Given the description of an element on the screen output the (x, y) to click on. 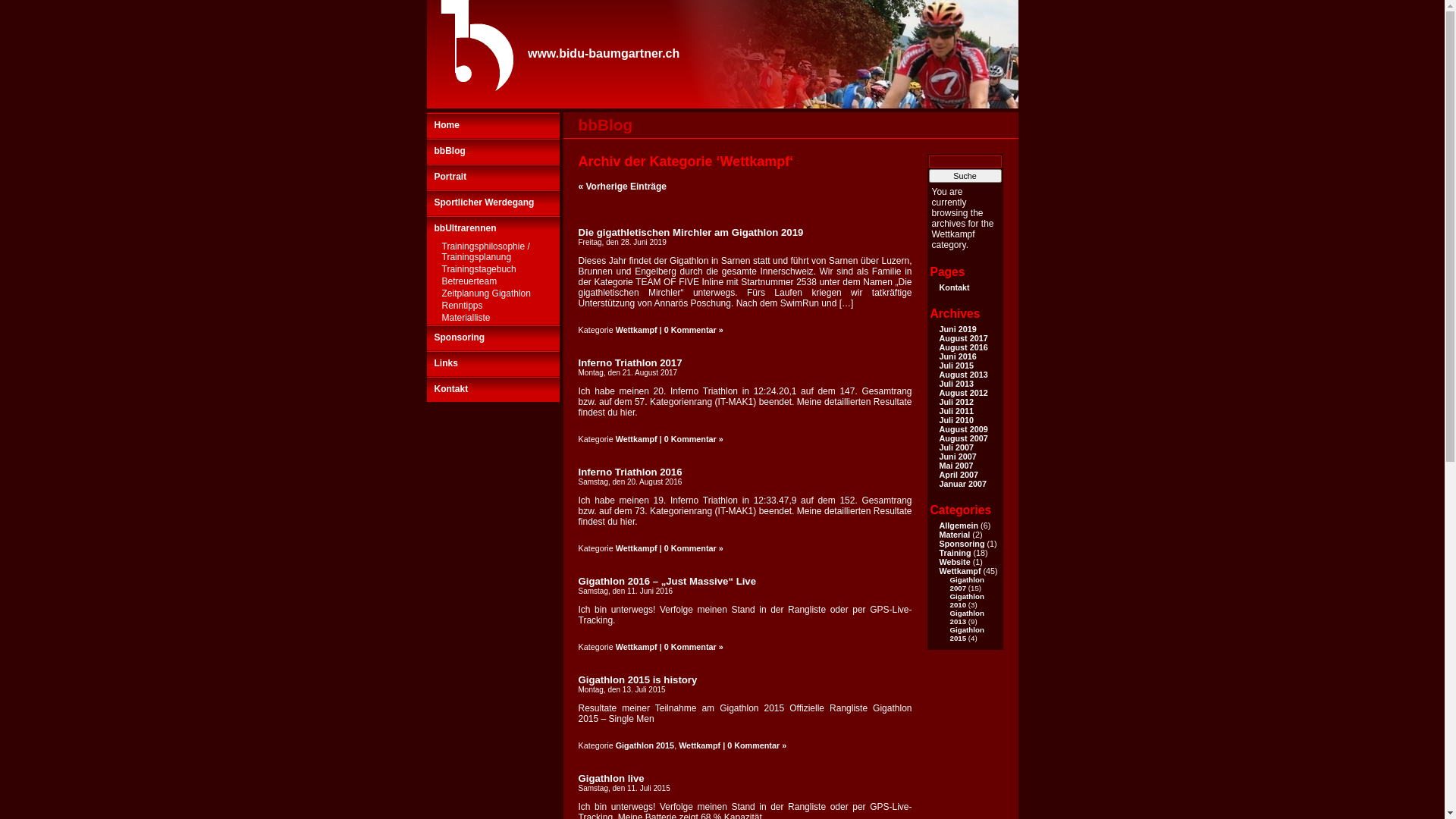
Wettkampf Element type: text (636, 329)
Juni 2007 Element type: text (956, 456)
Die gigathletischen Mirchler am Gigathlon 2019 Element type: text (690, 232)
Gigathlon live Element type: text (610, 778)
Sponsoring Element type: text (492, 337)
August 2016 Element type: text (962, 346)
bbBlog Element type: text (604, 124)
Sportlicher Werdegang Element type: text (492, 202)
bbBlog Element type: text (492, 150)
Training Element type: text (954, 552)
Allgemein Element type: text (958, 525)
Betreuerteam Element type: text (492, 282)
Gigathlon 2015 Element type: text (966, 633)
Wettkampf Element type: text (959, 570)
www.bidu-baumgartner.ch Element type: text (603, 53)
Zeitplanung Gigathlon Element type: text (492, 294)
August 2013 Element type: text (962, 374)
Juli 2010 Element type: text (955, 419)
Home Element type: text (492, 125)
Gigathlon 2015 is history Element type: text (636, 679)
Juli 2015 Element type: text (955, 365)
Wettkampf Element type: text (636, 646)
Sponsoring Element type: text (961, 543)
Kontakt Element type: text (953, 286)
Inferno Triathlon 2017 Element type: text (629, 362)
Material Element type: text (953, 534)
Wettkampf Element type: text (636, 438)
Wettkampf Element type: text (699, 744)
August 2009 Element type: text (962, 428)
April 2007 Element type: text (958, 474)
Gigathlon 2007 Element type: text (966, 583)
Juli 2012 Element type: text (955, 401)
August 2017 Element type: text (962, 337)
August 2012 Element type: text (962, 392)
Kontakt Element type: text (492, 388)
Materialliste Element type: text (492, 318)
Juli 2007 Element type: text (955, 446)
Gigathlon 2015 Element type: text (644, 744)
Portrait Element type: text (492, 176)
Juni 2019 Element type: text (956, 328)
Juli 2013 Element type: text (955, 383)
Mai 2007 Element type: text (955, 465)
Website Element type: text (953, 561)
Gigathlon 2010 Element type: text (966, 600)
Wettkampf Element type: text (636, 547)
Juni 2016 Element type: text (956, 355)
August 2007 Element type: text (962, 437)
Juli 2011 Element type: text (955, 410)
bbUltrarennen Element type: text (492, 228)
Renntipps Element type: text (492, 306)
Januar 2007 Element type: text (961, 483)
Suche Element type: text (964, 175)
Trainingstagebuch Element type: text (492, 269)
Inferno Triathlon 2016 Element type: text (629, 471)
Links Element type: text (492, 363)
Trainingsphilosophie /
Trainingsplanung Element type: text (492, 252)
Gigathlon 2013 Element type: text (966, 616)
